Given the description of an element on the screen output the (x, y) to click on. 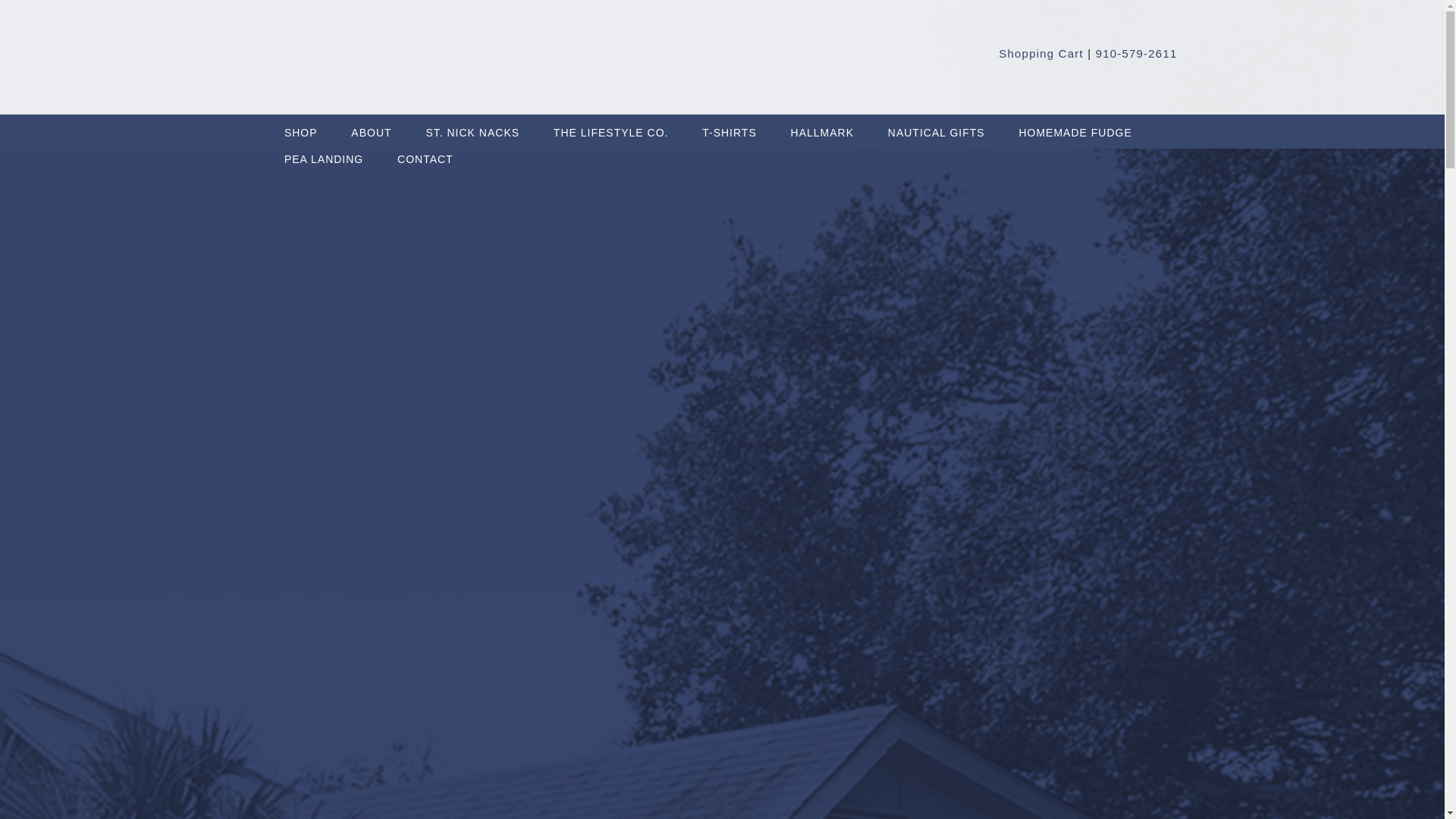
HOMEMADE FUDGE (1074, 127)
SHOP (299, 127)
THE LIFESTYLE CO. (609, 127)
Christmas Shop (472, 127)
Shopping Cart (1040, 52)
NAUTICAL GIFTS (935, 127)
ST. NICK NACKS (472, 127)
910-579-2611 (1136, 52)
HALLMARK (821, 127)
Jewelry Boutique (609, 127)
PEA LANDING (323, 153)
ABOUT (371, 127)
CONTACT (425, 153)
T-SHIRTS (729, 127)
